Given the description of an element on the screen output the (x, y) to click on. 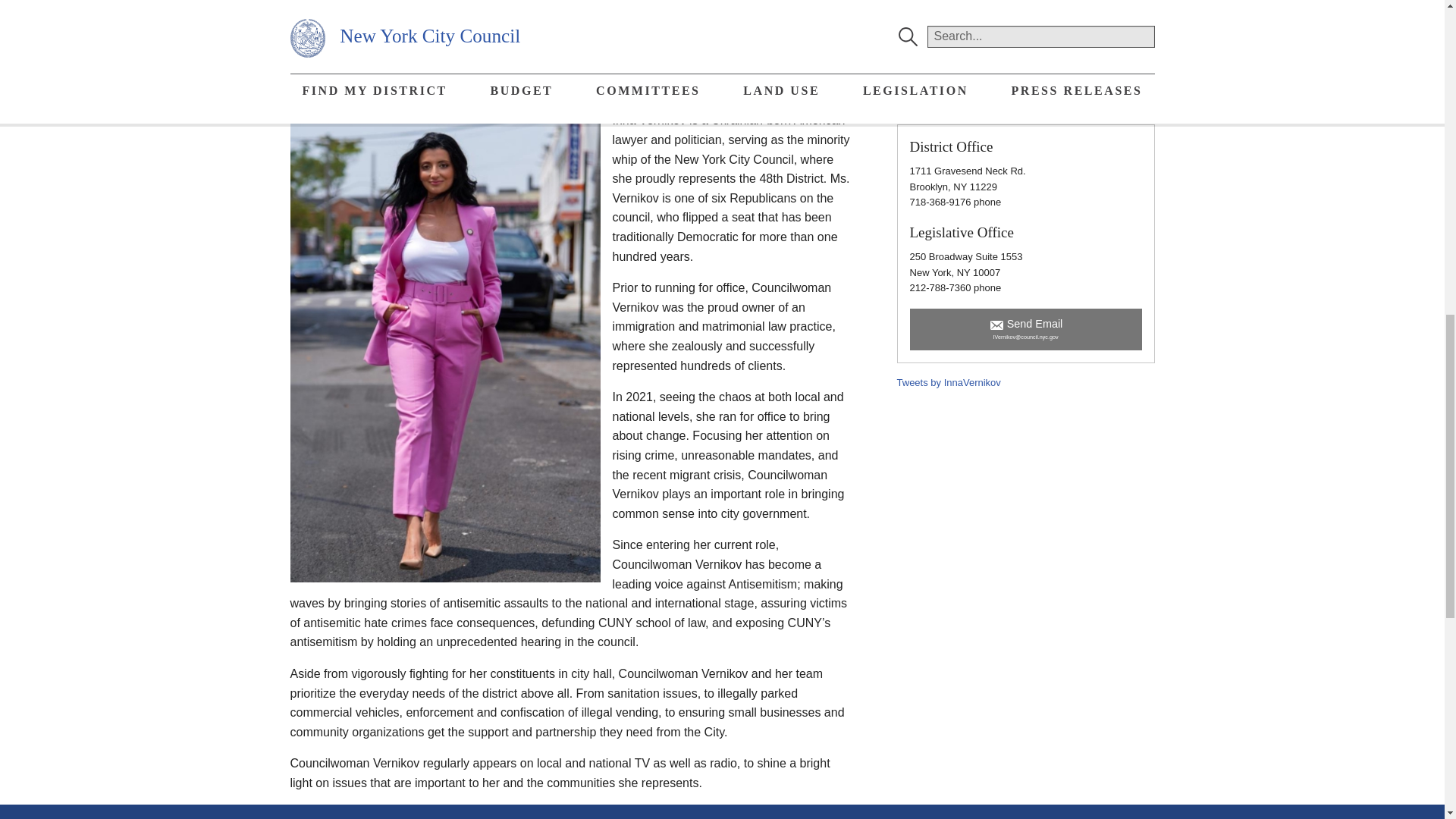
Tweets by InnaVernikov (948, 382)
News (1025, 88)
Biography (1025, 62)
